Given the description of an element on the screen output the (x, y) to click on. 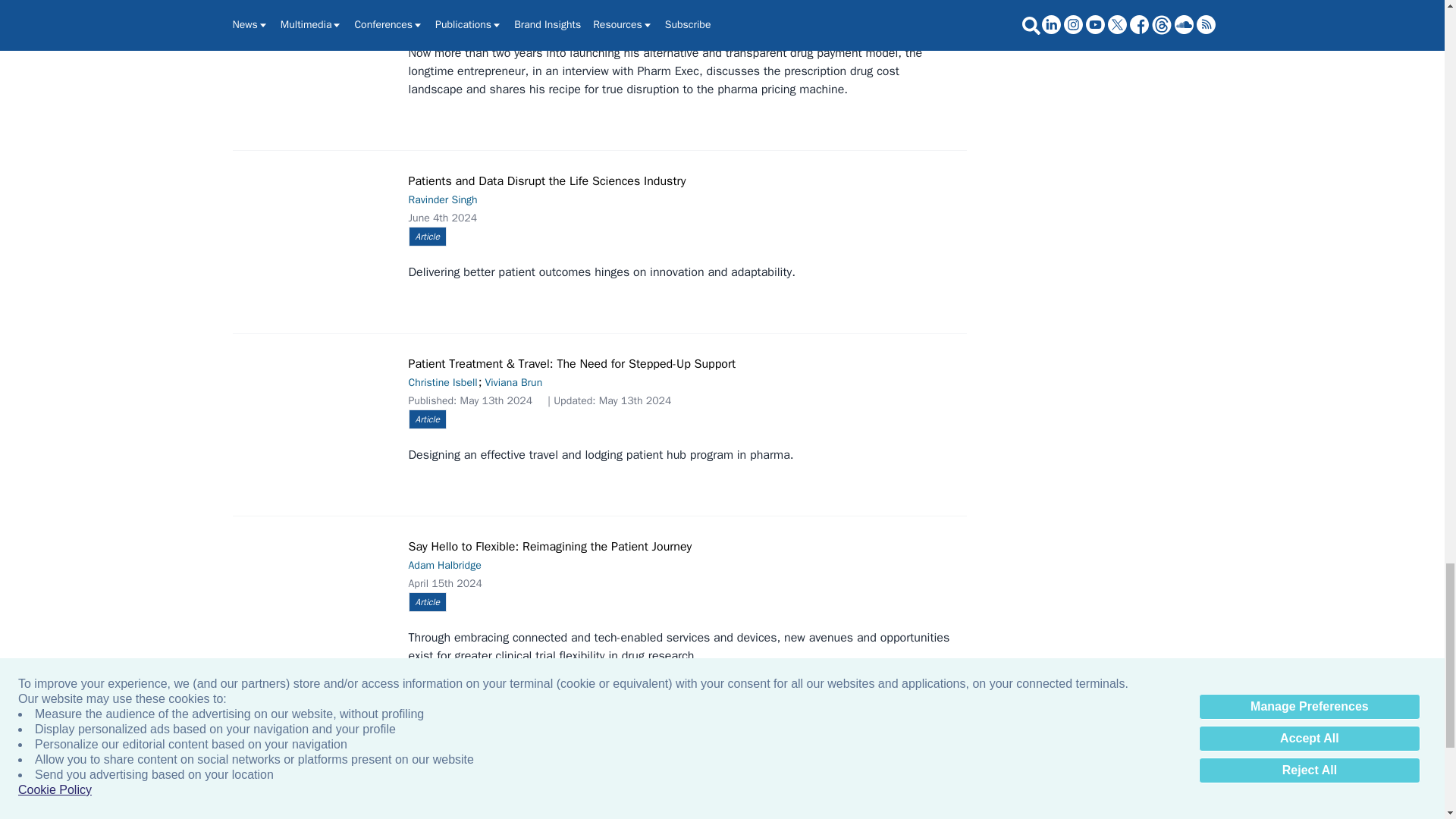
Say Hello to Flexible: Reimagining the Patient Journey  (317, 584)
Patients and Data Disrupt the Life Sciences Industry (317, 226)
Pharm Exec Exclusive: Mark Cuban Talks Drug Pricing  (317, 28)
